Given the description of an element on the screen output the (x, y) to click on. 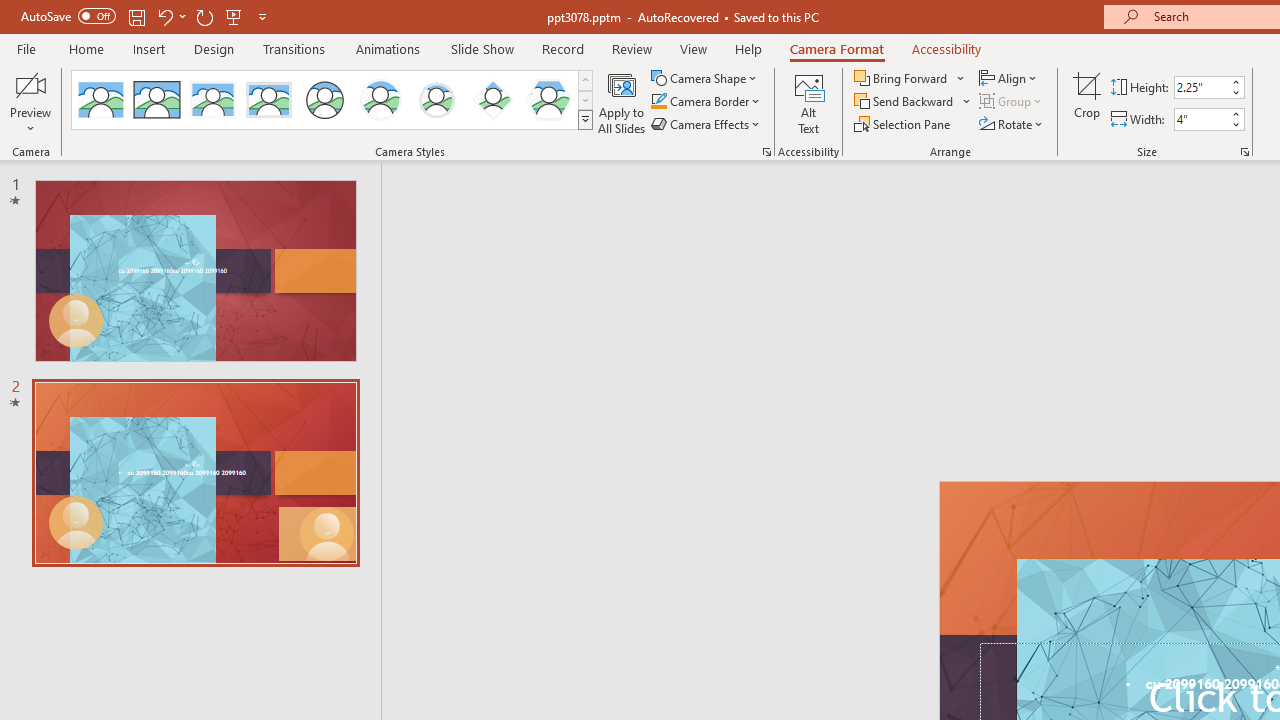
Rotate (1012, 124)
Send Backward (913, 101)
Center Shadow Hexagon (548, 100)
Bring Forward (910, 78)
Size and Position... (1244, 151)
Camera Format (836, 48)
No Style (100, 100)
Send Backward (905, 101)
Align (1009, 78)
Cameo Width (1201, 119)
